Given the description of an element on the screen output the (x, y) to click on. 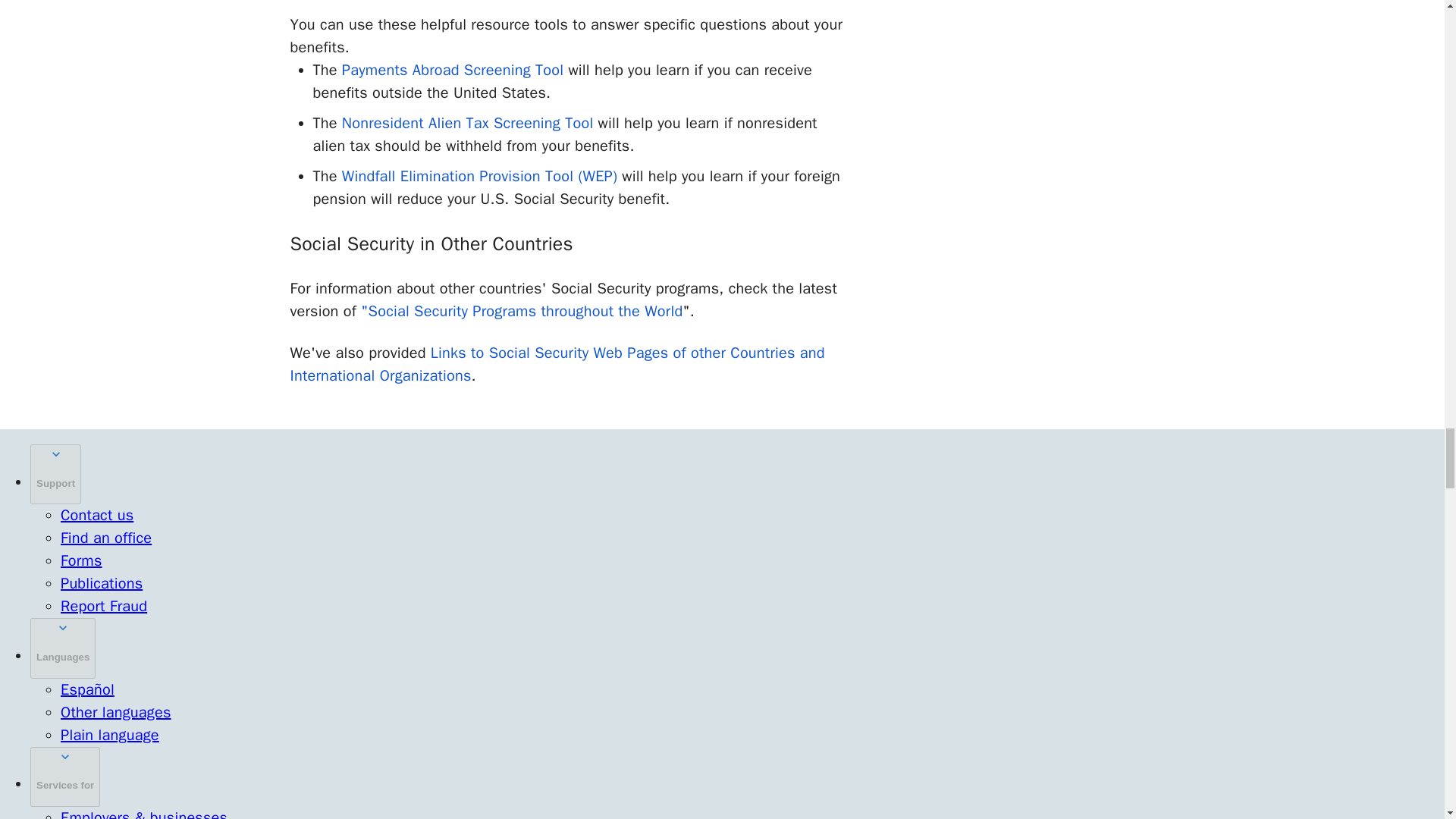
Payments Abroad Screening Tool (452, 69)
Nonresident Alien Tax Screening Tool (468, 122)
"Social Security Programs throughout the World (521, 311)
